Given the description of an element on the screen output the (x, y) to click on. 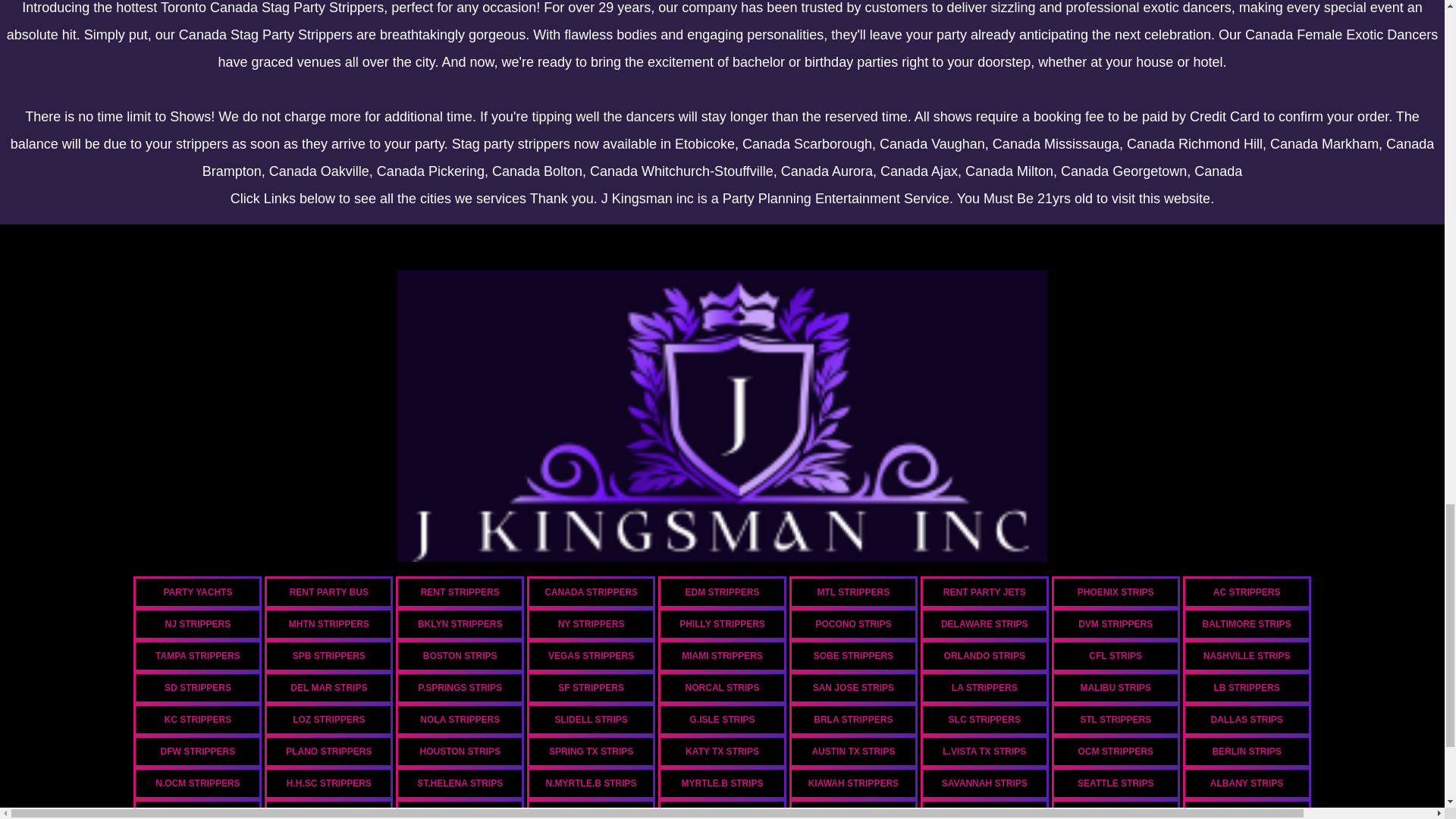
MHTN STRIPPERS (328, 623)
EDM STRIPPERS (722, 592)
RENT PARTY JETS (984, 592)
BOSTON STRIPS (460, 655)
ORLANDO STRIPS (984, 655)
DVM STRIPPERS (1115, 623)
PHILLY STRIPPERS (722, 623)
SOBE STRIPPERS (853, 655)
NY STRIPPERS (591, 623)
BALTIMORE STRIPS (1246, 623)
